Given the description of an element on the screen output the (x, y) to click on. 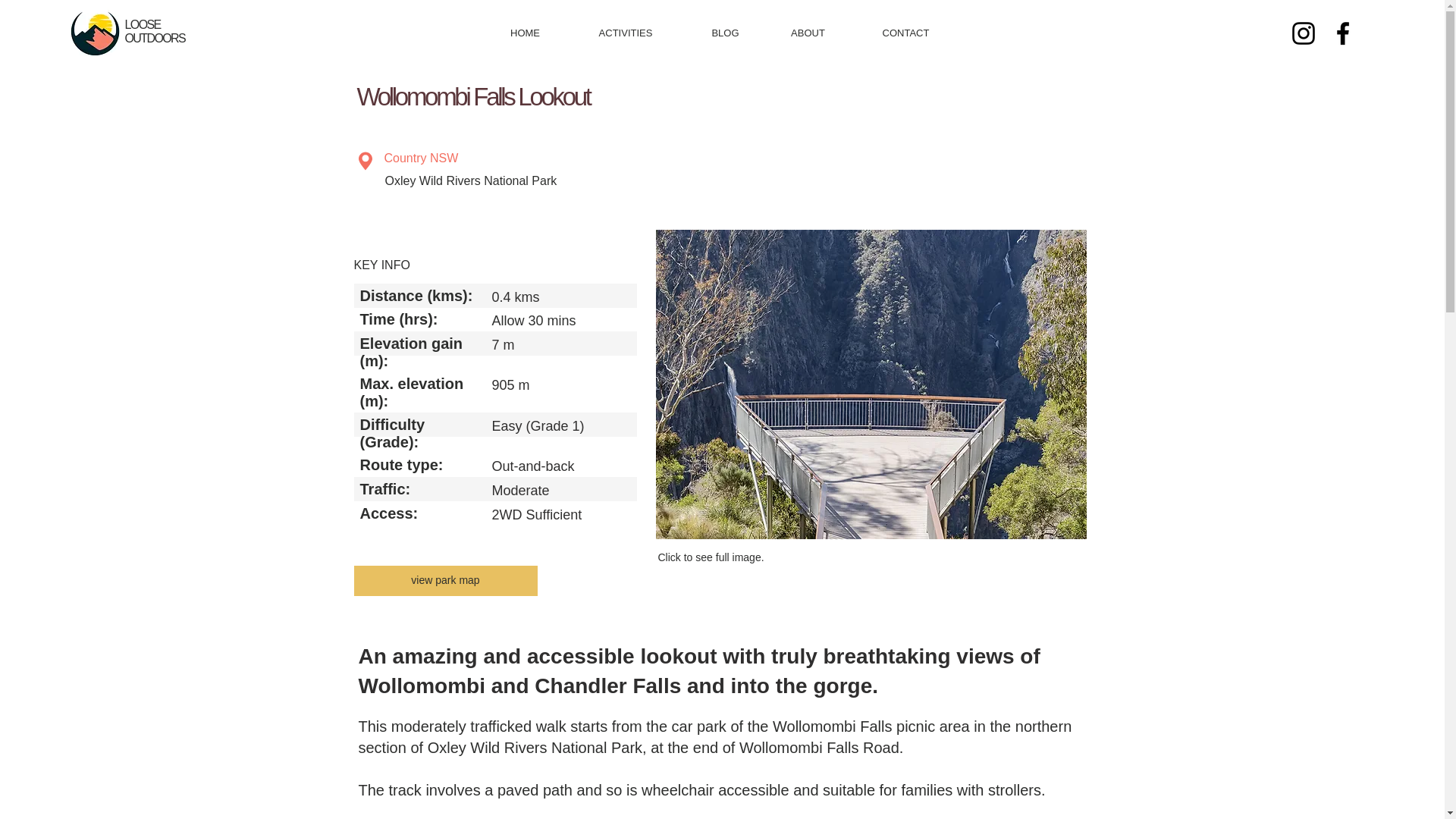
BLOG (725, 33)
loose-outdoors-logo-04.jpg (94, 31)
CONTACT (905, 33)
HOME (524, 33)
view park map (445, 580)
ACTIVITIES (624, 33)
ABOUT (807, 33)
